Given the description of an element on the screen output the (x, y) to click on. 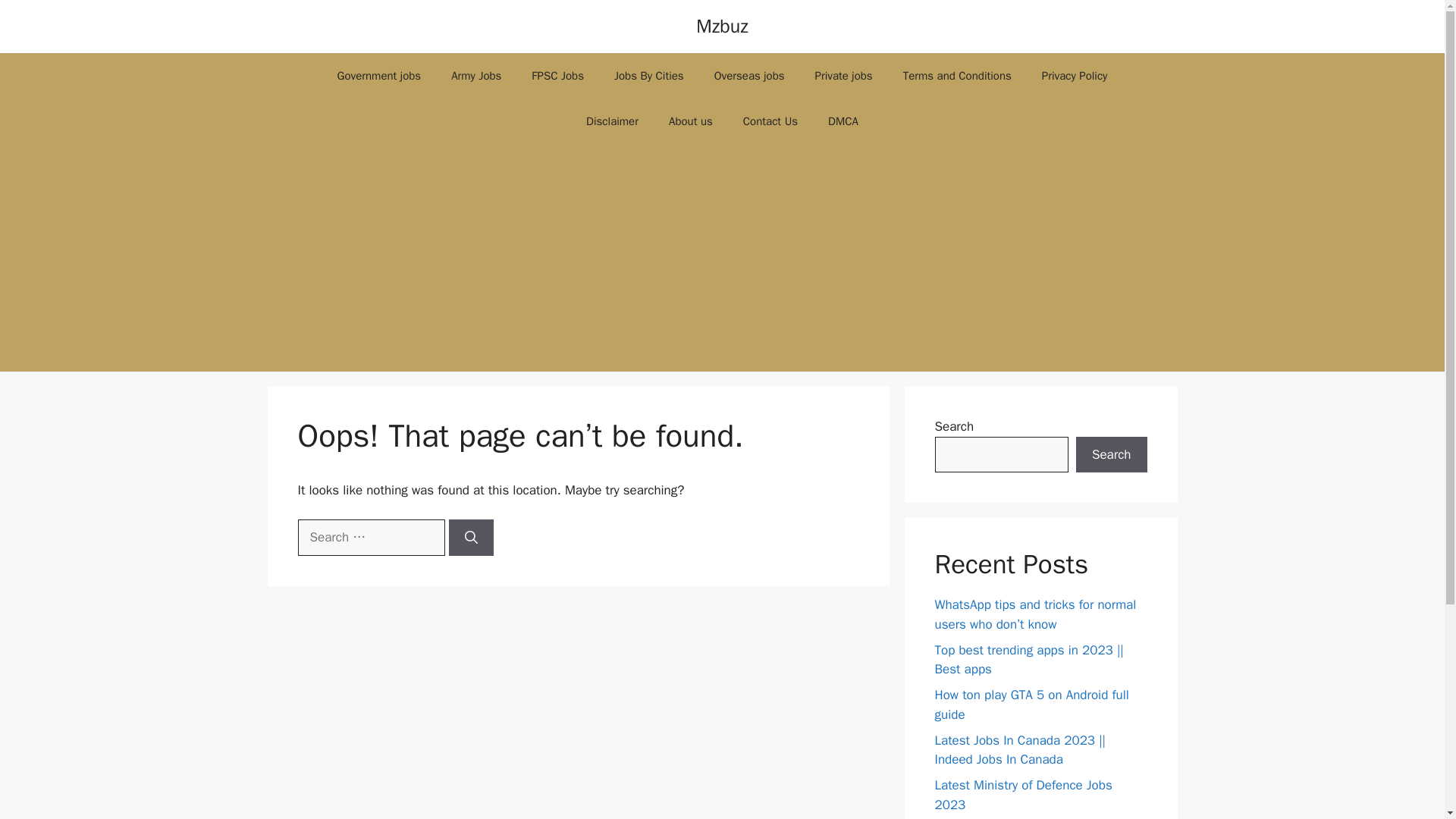
DMCA (842, 121)
Latest Ministry of Defence Jobs 2023 (1023, 795)
Overseas jobs (748, 75)
Search (1111, 454)
Terms and Conditions (957, 75)
Jobs By Cities (648, 75)
Mzbuz (721, 25)
Disclaimer (611, 121)
FPSC Jobs (557, 75)
Army Jobs (475, 75)
Government jobs (378, 75)
Privacy Policy (1074, 75)
Contact Us (770, 121)
How ton play GTA 5 on Android full guide (1031, 704)
